Given the description of an element on the screen output the (x, y) to click on. 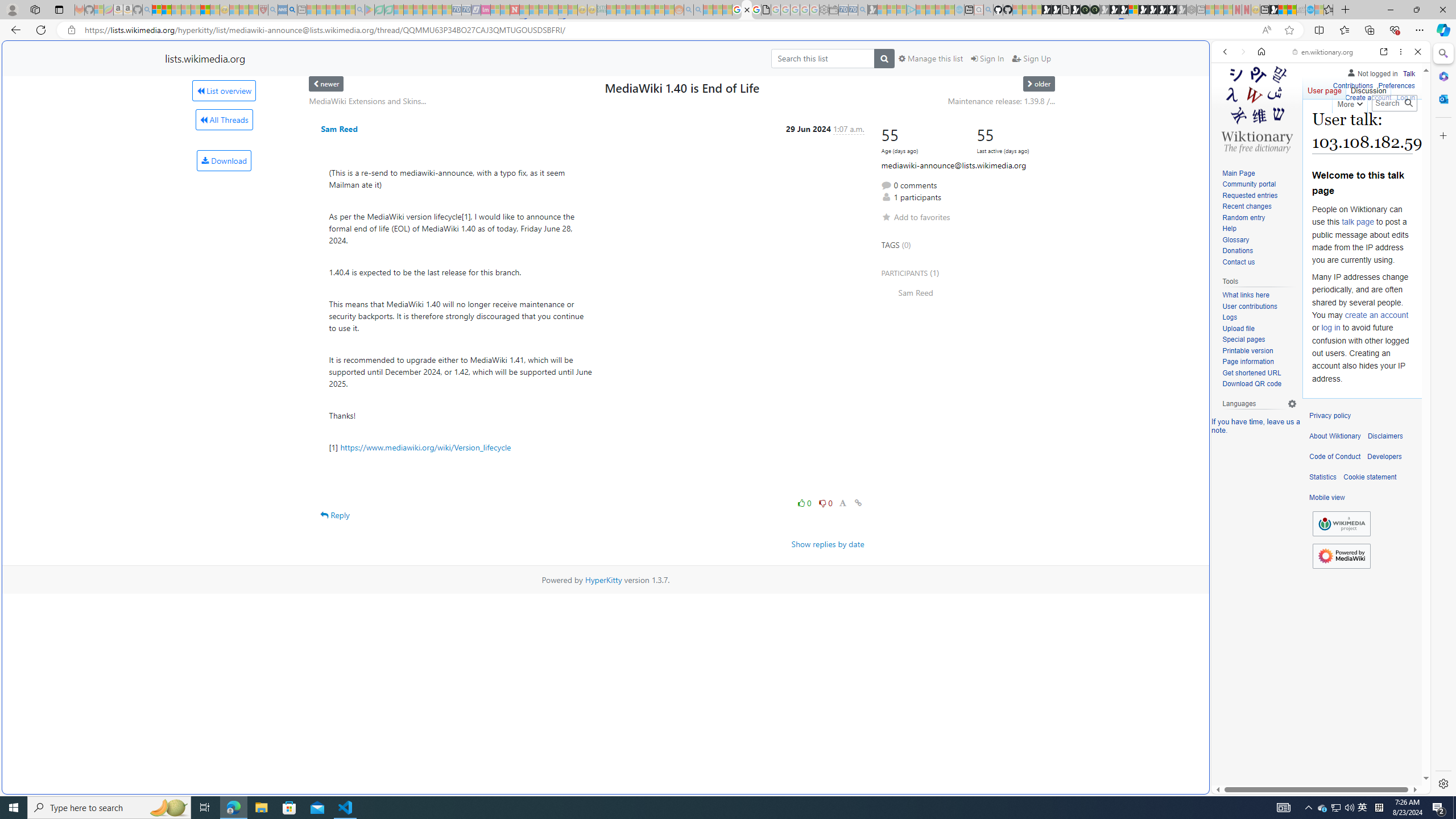
Language settings (1292, 403)
Cheap Hotels - Save70.com - Sleeping (466, 9)
Close split screen (1208, 57)
Forward (1242, 51)
utah sues federal government - Search (922, 389)
Random entry (1259, 218)
